Given the description of an element on the screen output the (x, y) to click on. 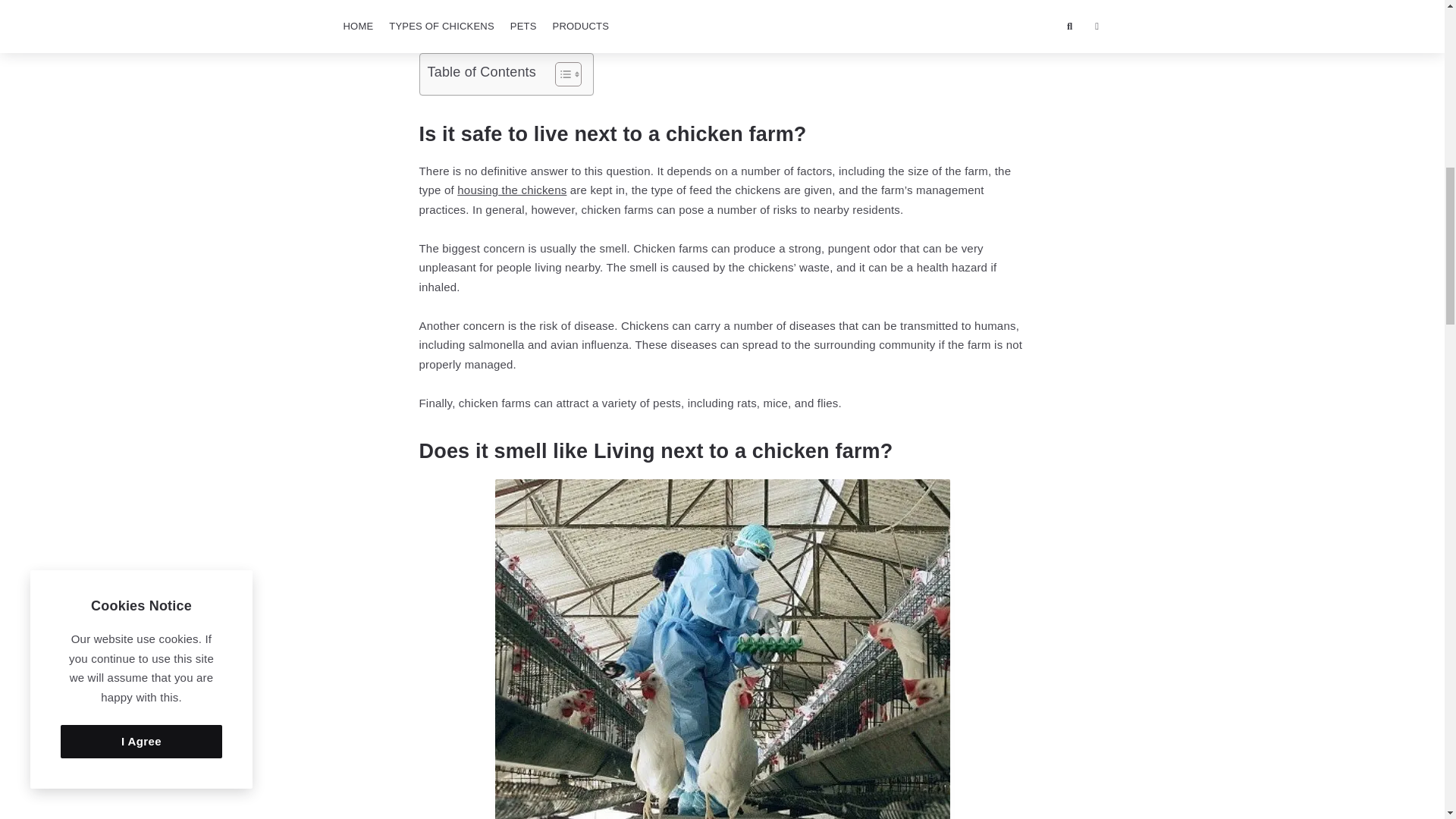
housing the chickens (511, 189)
